Given the description of an element on the screen output the (x, y) to click on. 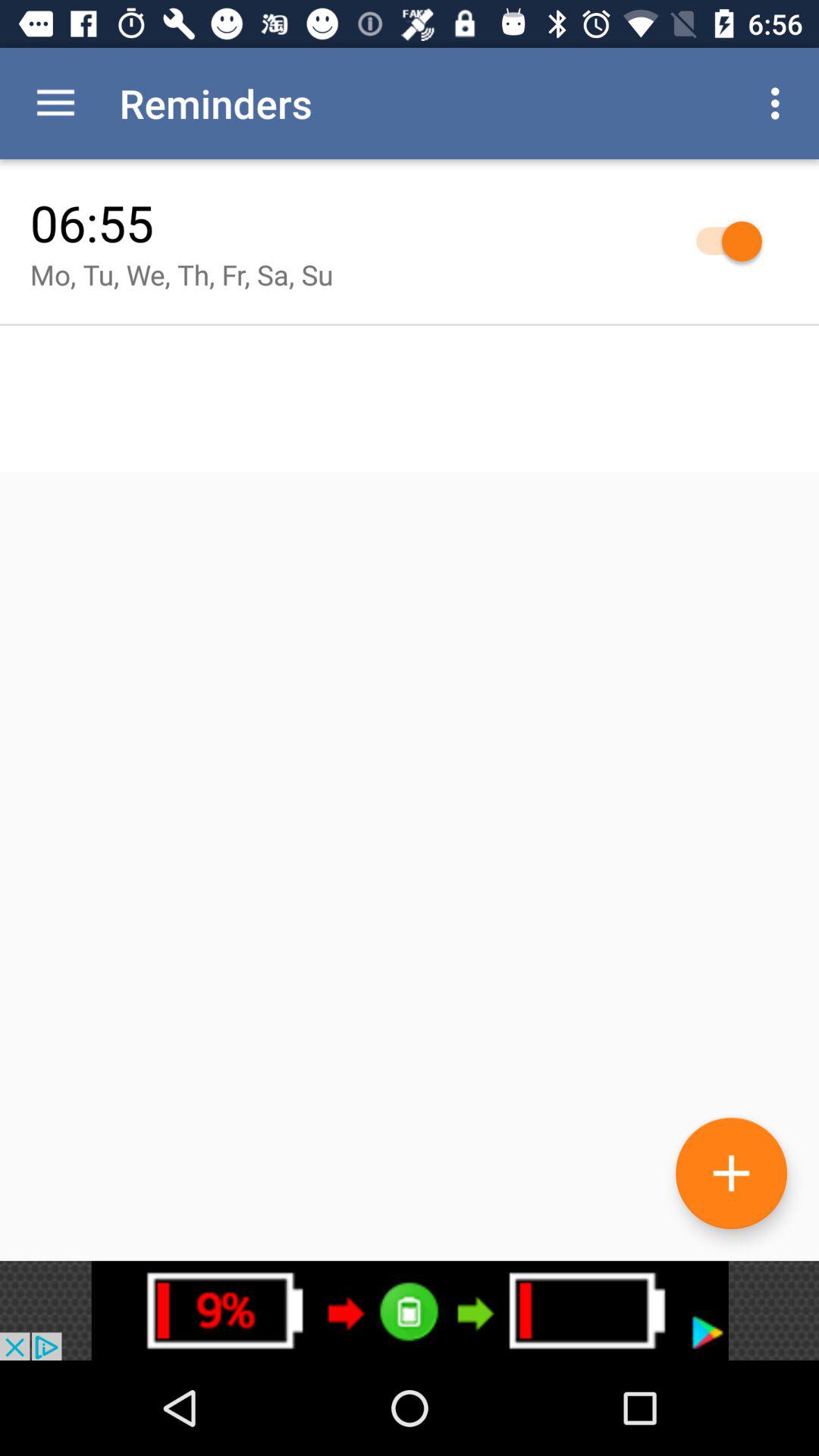
go to next box (409, 1310)
